Given the description of an element on the screen output the (x, y) to click on. 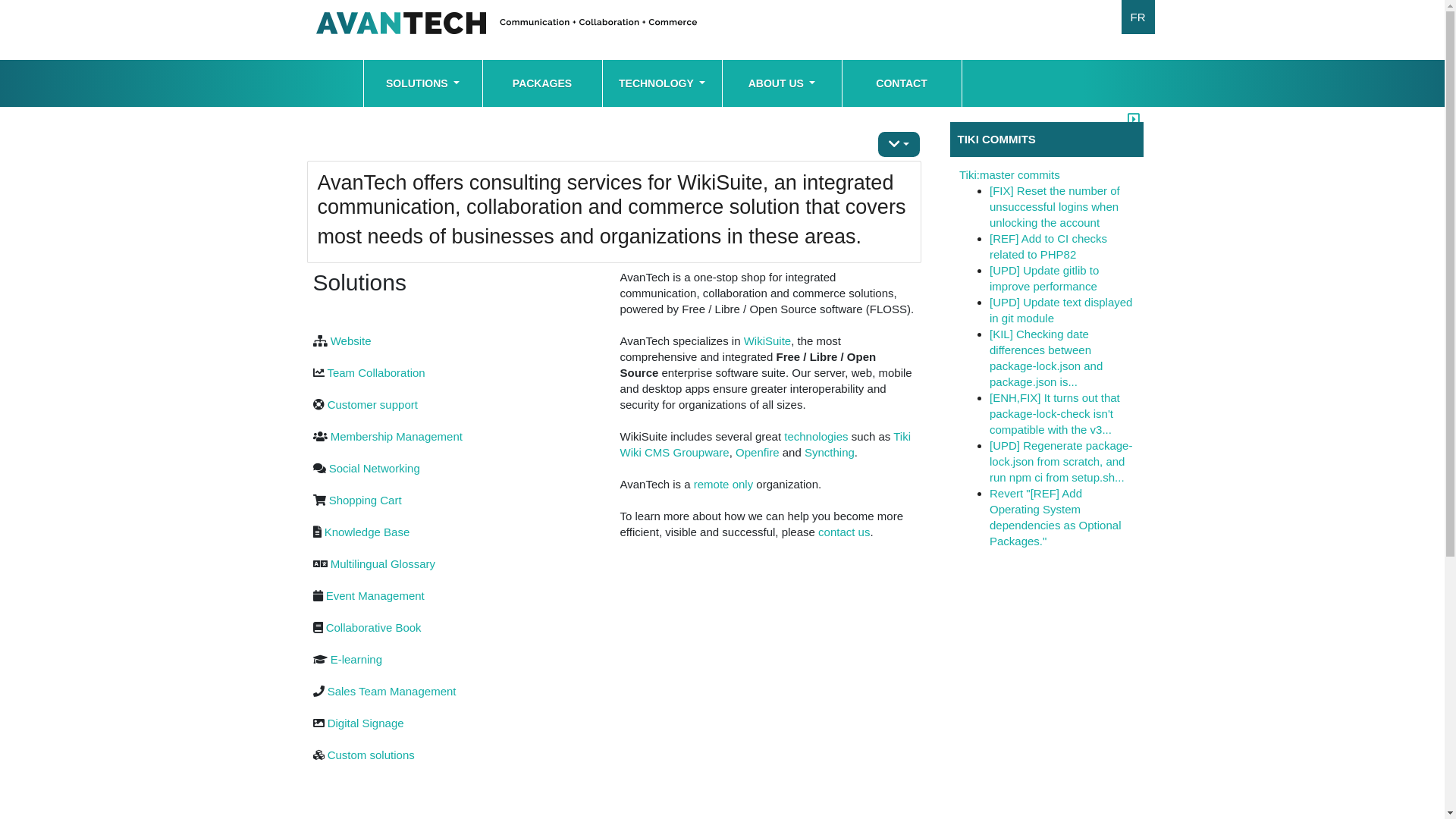
Multilingual Glossary Element type: text (382, 563)
WikiSuite Element type: text (767, 340)
Collaborative Book Element type: text (373, 627)
PACKAGES Element type: text (541, 82)
[REF] Add to CI checks related to PHP82 Element type: text (1048, 246)
Page actions Element type: hover (898, 143)
Social Networking Element type: text (374, 467)
remote only Element type: text (723, 483)
Event Management Element type: text (375, 595)
Shopping Cart Element type: text (365, 499)
Tiki:master commits Element type: text (1009, 174)
Digital Signage Element type: text (365, 722)
Sales Team Management Element type: text (391, 690)
[UPD] Update text displayed in git module Element type: text (1060, 309)
FR Element type: text (1137, 16)
Custom solutions Element type: text (370, 754)
Customer support Element type: text (372, 404)
E-learning Element type: text (356, 658)
Tiki Wiki CMS Groupware Element type: text (765, 443)
Membership Management Element type: text (396, 435)
Syncthing Element type: text (829, 451)
Knowledge Base Element type: text (367, 531)
CONTACT Element type: text (900, 82)
ABOUT US Element type: text (780, 82)
Toggle right modules Element type: hover (1133, 111)
Website Element type: text (350, 340)
Openfire Element type: text (757, 451)
[UPD] Update gitlib to improve performance Element type: text (1043, 277)
SOLUTIONS Element type: text (423, 82)
technologies Element type: text (815, 435)
AvanTech Communication + Collaboration + Commerce Element type: hover (505, 27)
TECHNOLOGY Element type: text (661, 82)
Team Collaboration Element type: text (375, 372)
contact us Element type: text (843, 531)
